Given the description of an element on the screen output the (x, y) to click on. 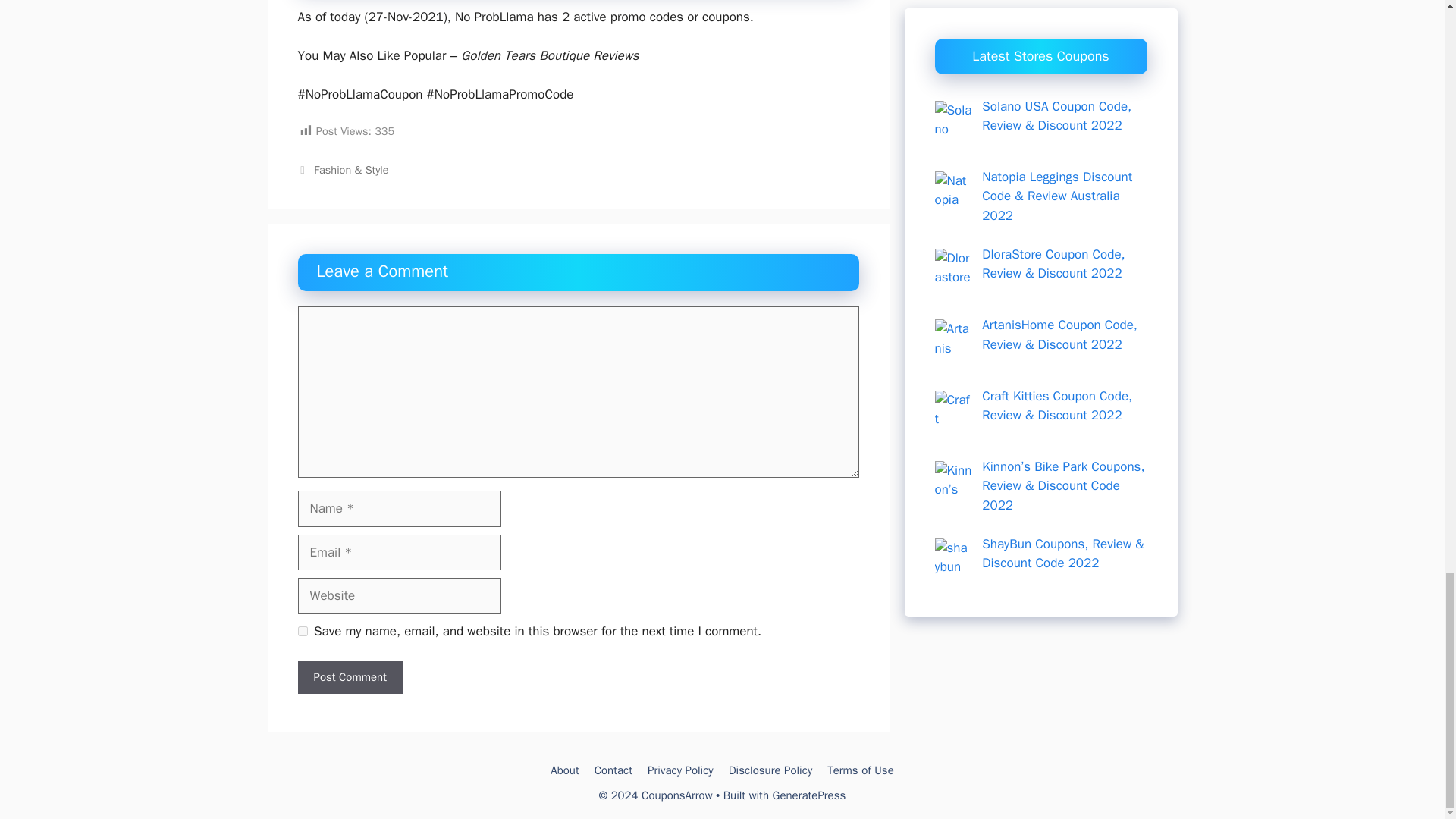
yes (302, 631)
About (564, 770)
Contact (612, 770)
Post Comment (349, 677)
Golden Tears Boutique Reviews (550, 55)
Post Comment (349, 677)
